Given the description of an element on the screen output the (x, y) to click on. 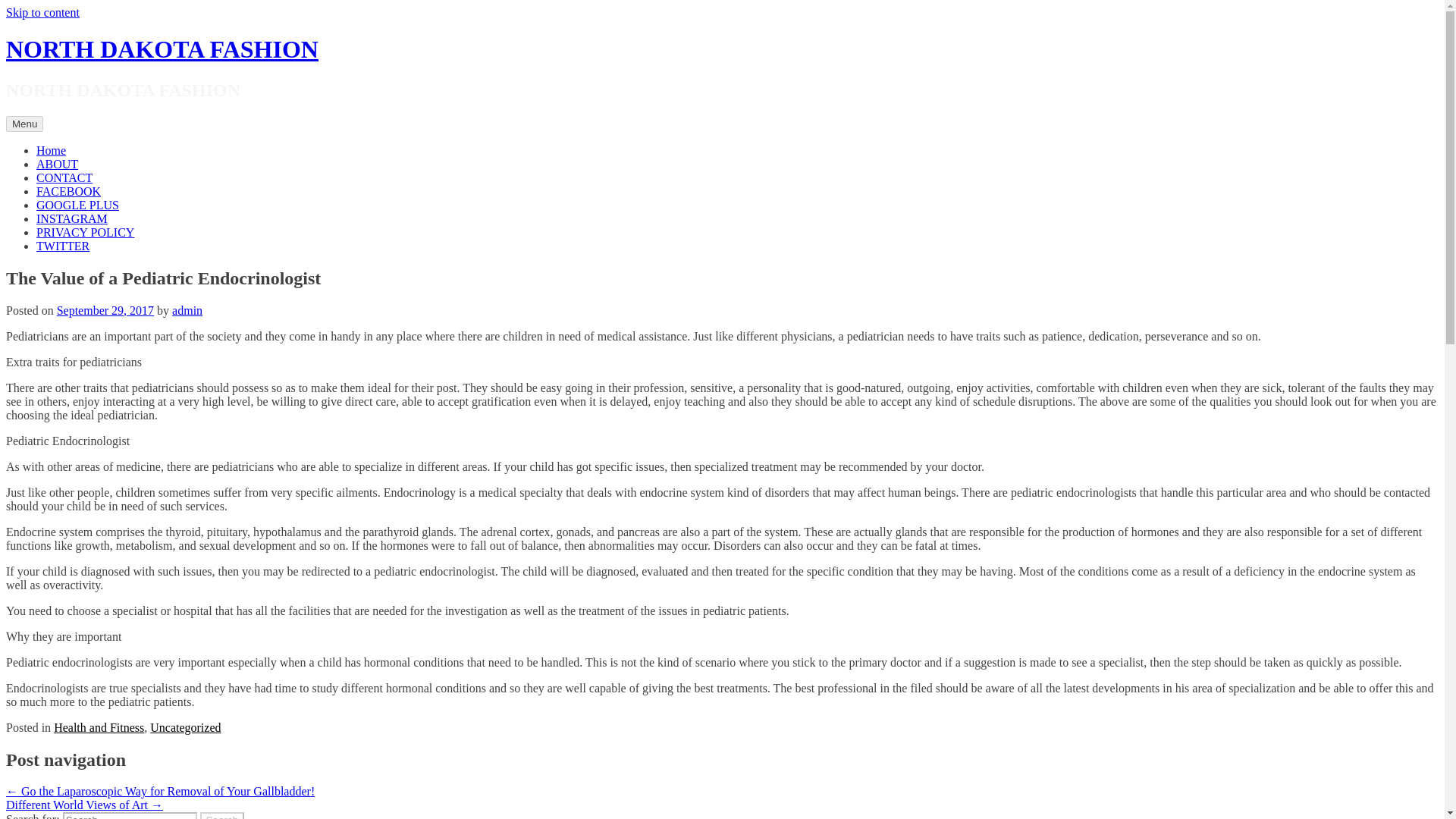
GOOGLE PLUS (77, 205)
INSTAGRAM (71, 218)
CONTACT (64, 177)
NORTH DAKOTA FASHION (161, 49)
Search (222, 815)
Uncategorized (185, 727)
Skip to content (42, 11)
ABOUT (57, 164)
Search (222, 815)
Health and Fitness (98, 727)
